Given the description of an element on the screen output the (x, y) to click on. 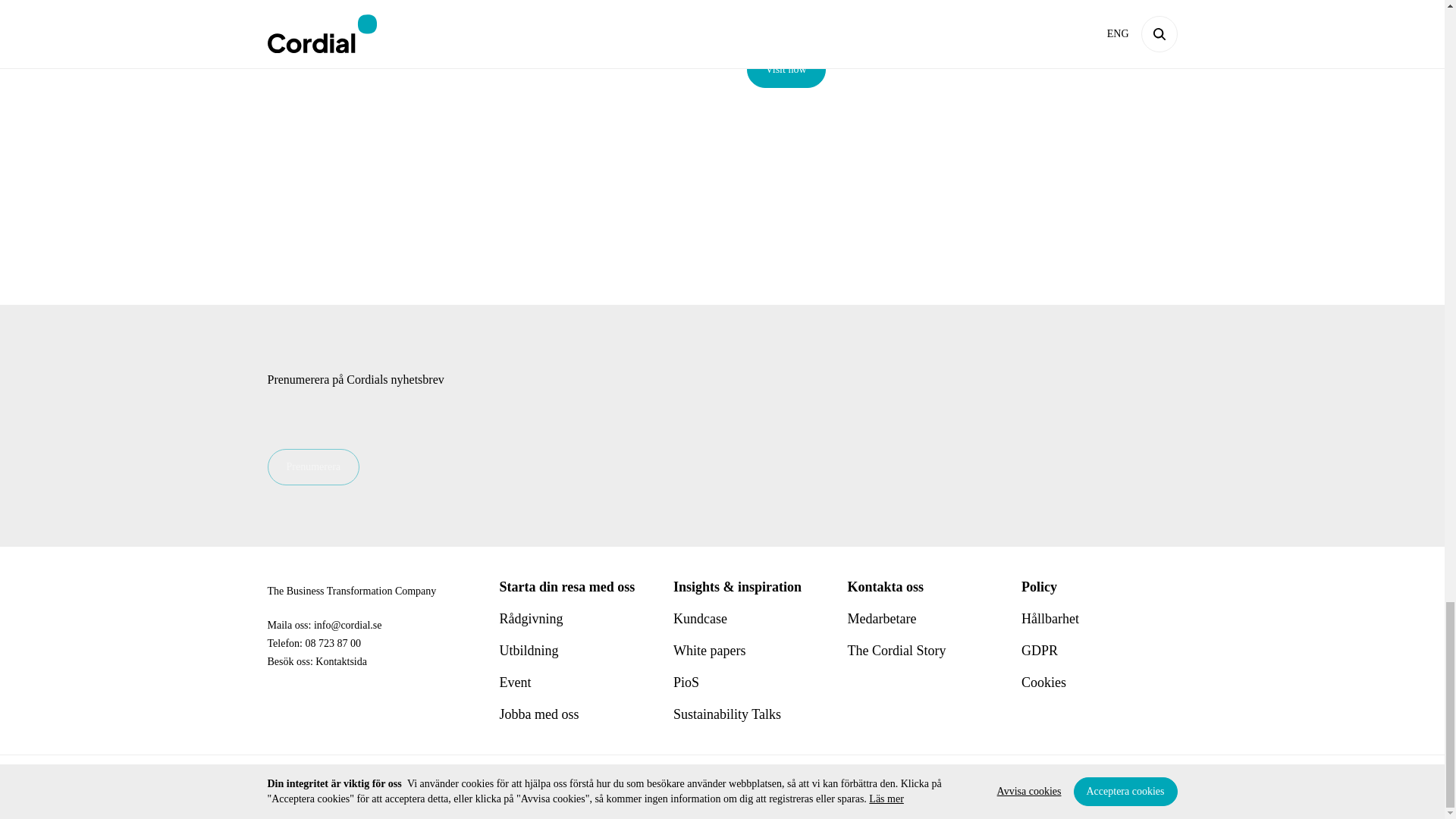
Kundcase (699, 618)
White papers (708, 650)
Utbildning (528, 650)
PioS (685, 682)
Event (515, 682)
Jobba med oss (538, 713)
Visit now (785, 69)
Starta din resa med oss (566, 586)
08 723 87 00 (332, 643)
Kontaktsida (340, 661)
Visit the brand new website of The Transformation Alliance (890, 12)
Prenumerera (312, 466)
